Given the description of an element on the screen output the (x, y) to click on. 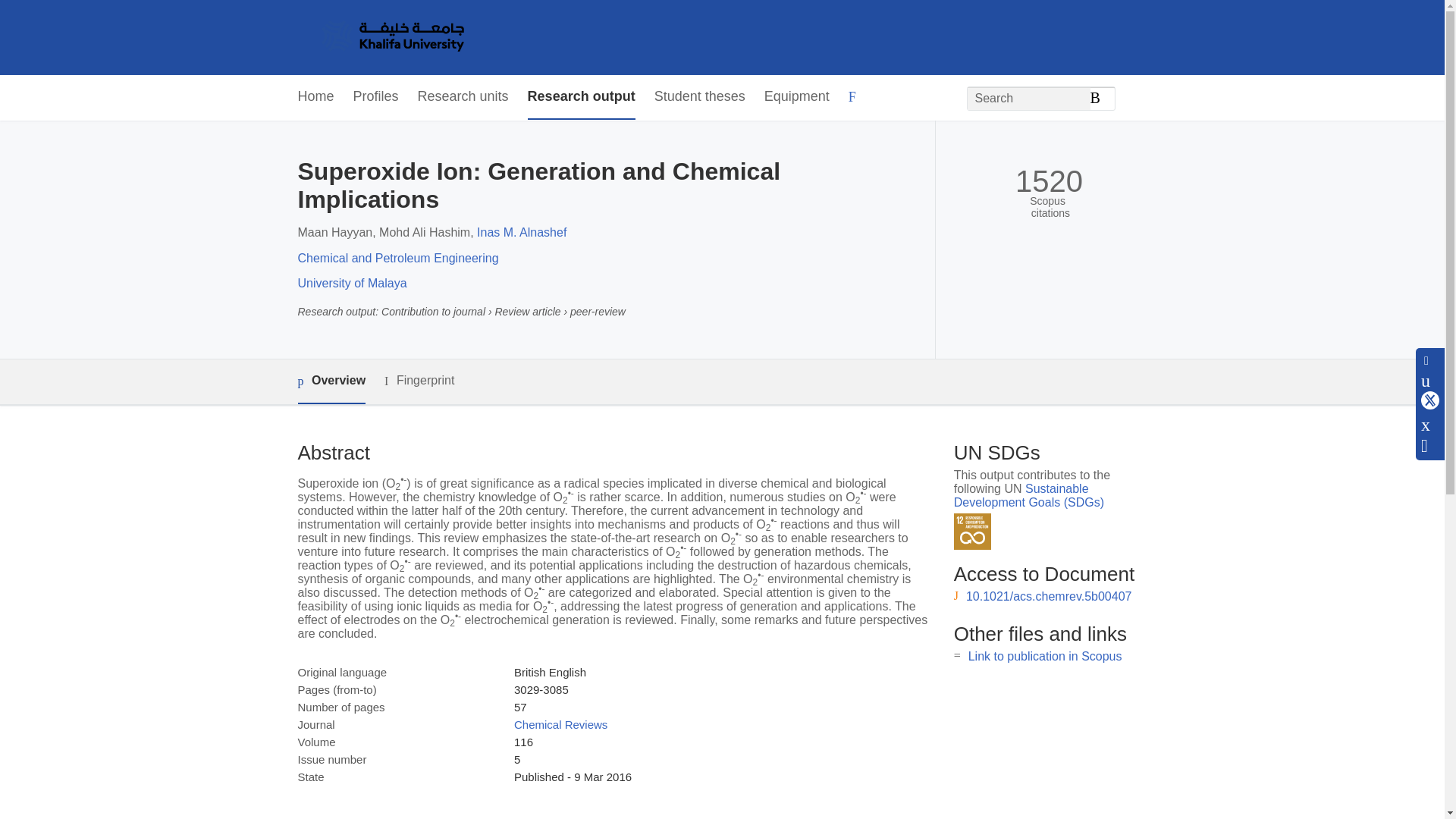
Chemical and Petroleum Engineering (397, 257)
Fingerprint (419, 380)
SDG 12 - Responsible Consumption and Production (972, 531)
Research output (580, 97)
Student theses (699, 97)
University of Malaya (351, 282)
Profiles (375, 97)
Overview (331, 381)
Link to publication in Scopus (1045, 656)
Research units (462, 97)
